Given the description of an element on the screen output the (x, y) to click on. 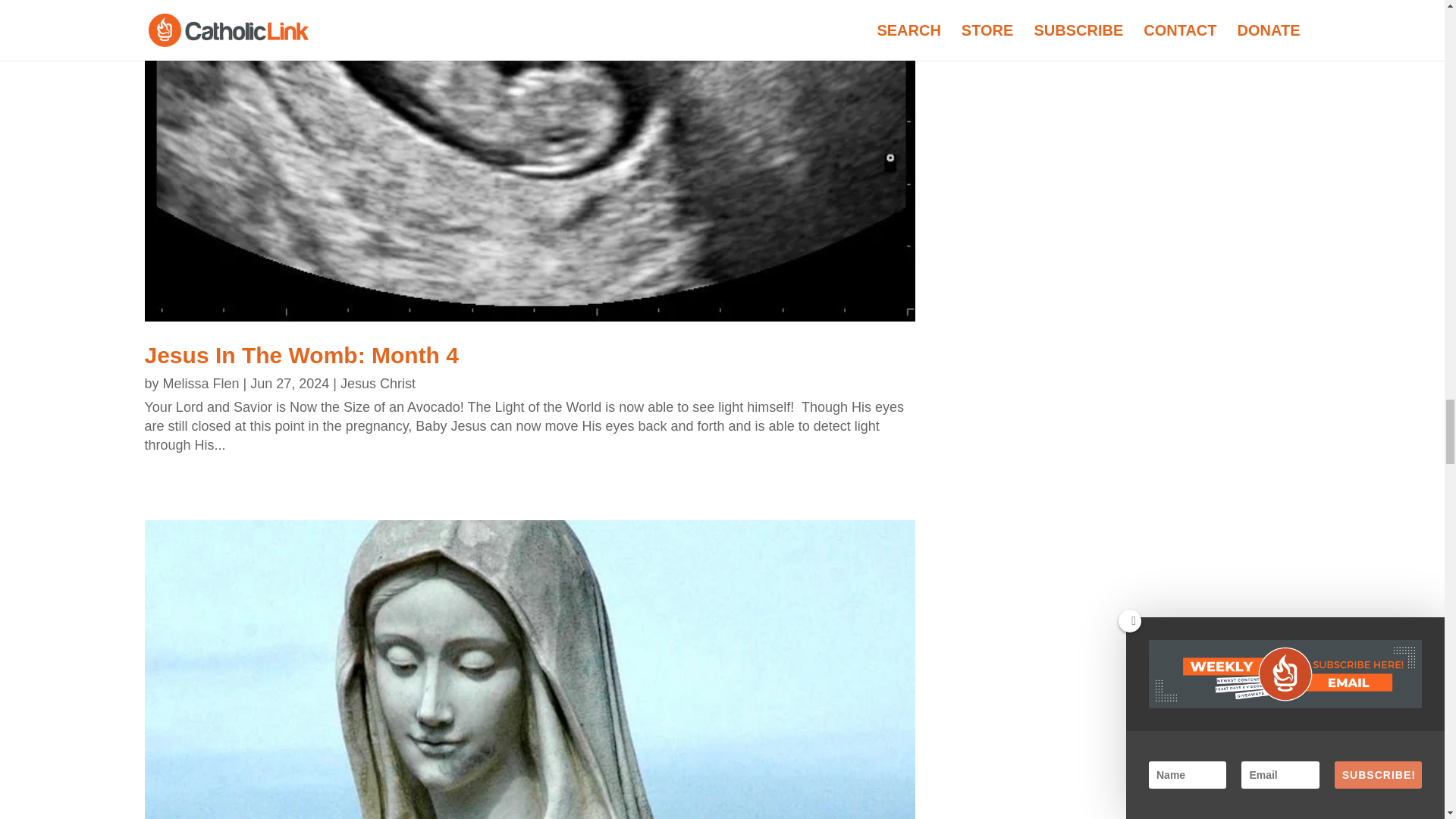
Melissa Flen (201, 383)
Jesus Christ (377, 383)
Jesus In The Womb: Month 4 (301, 355)
Posts by Melissa Flen (201, 383)
